Given the description of an element on the screen output the (x, y) to click on. 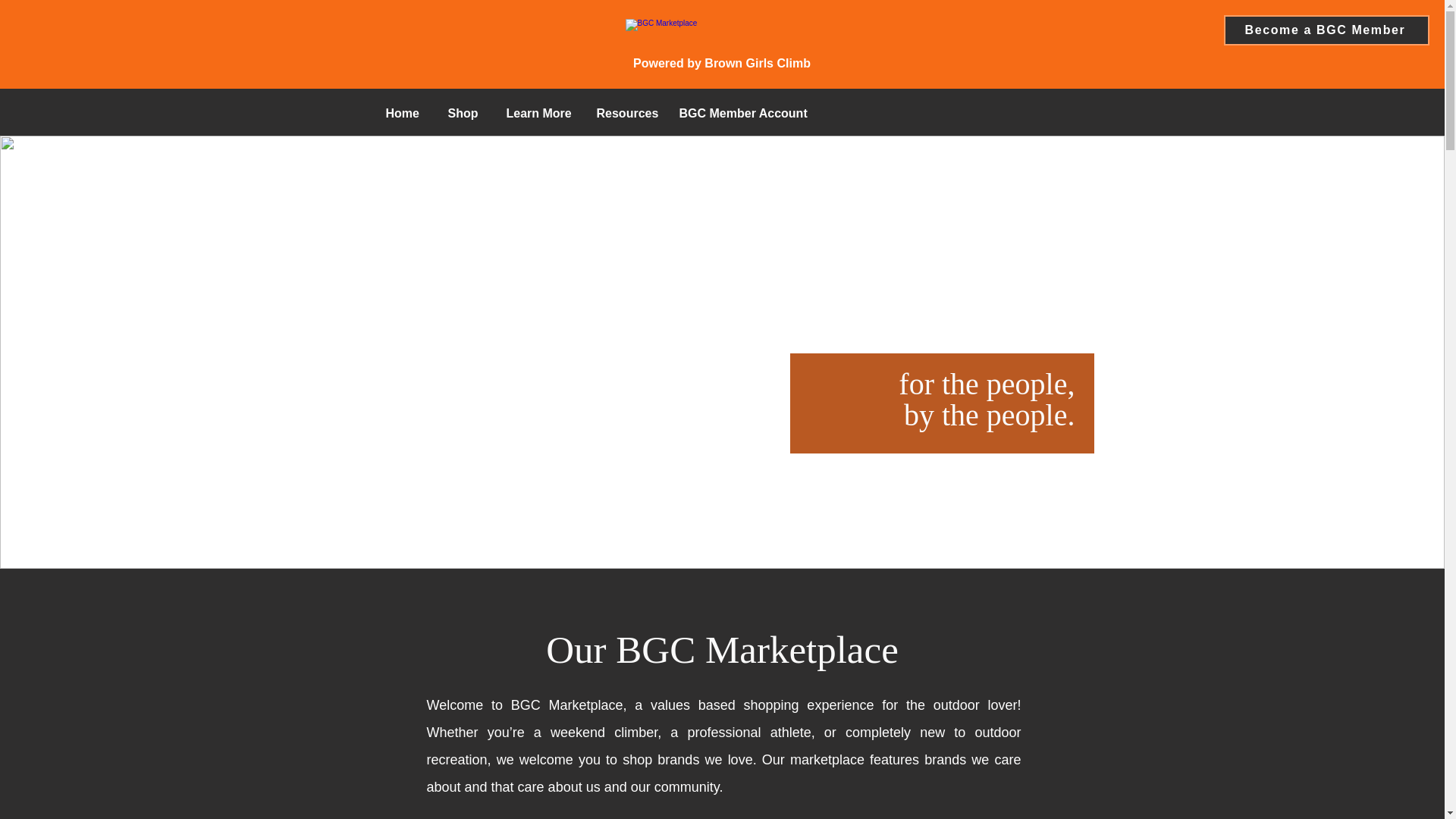
BGC Member Account (741, 113)
Resources (626, 113)
Become a BGC Member (1326, 30)
Shop (465, 113)
Home (405, 113)
